Given the description of an element on the screen output the (x, y) to click on. 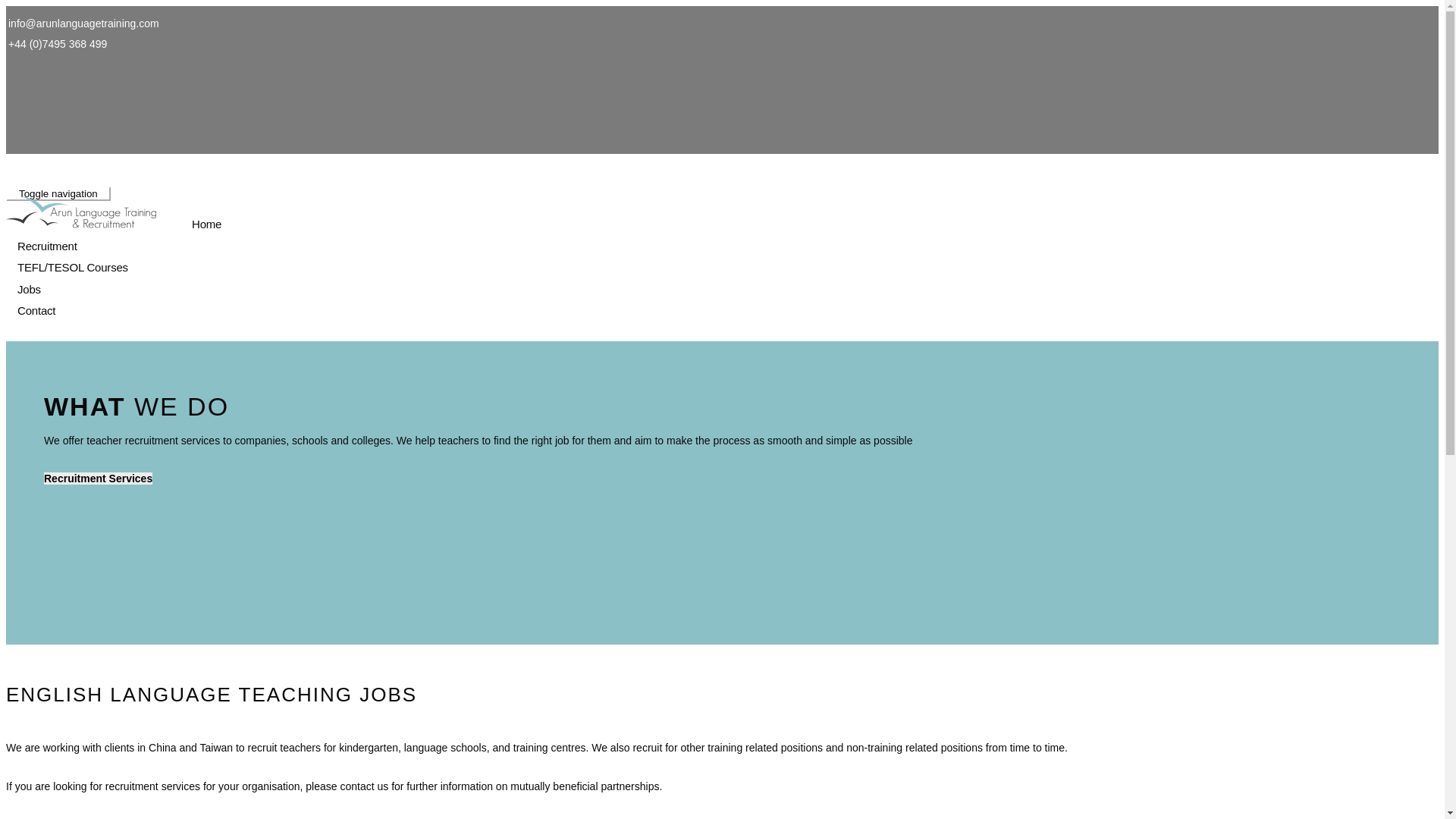
Jobs (28, 289)
Contact (35, 310)
Recruitment (46, 245)
Toggle navigation (57, 193)
Recruitment Services (97, 478)
Recruitment Services (97, 478)
Home (206, 223)
